Given the description of an element on the screen output the (x, y) to click on. 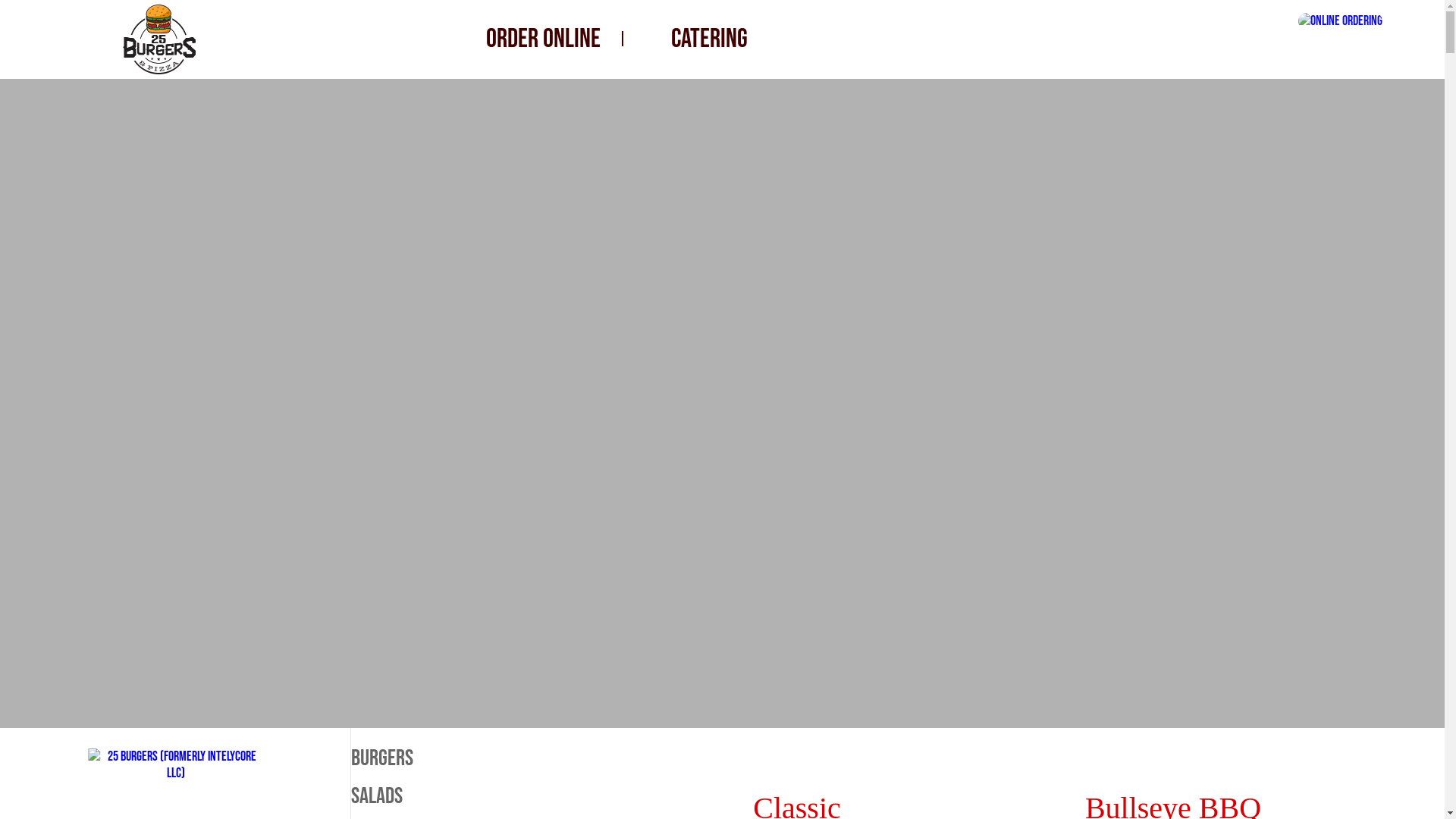
CATERING Element type: text (709, 39)
ORDER ONLINE Element type: text (543, 39)
Burgers Element type: text (438, 757)
Salads Element type: text (438, 795)
